Given the description of an element on the screen output the (x, y) to click on. 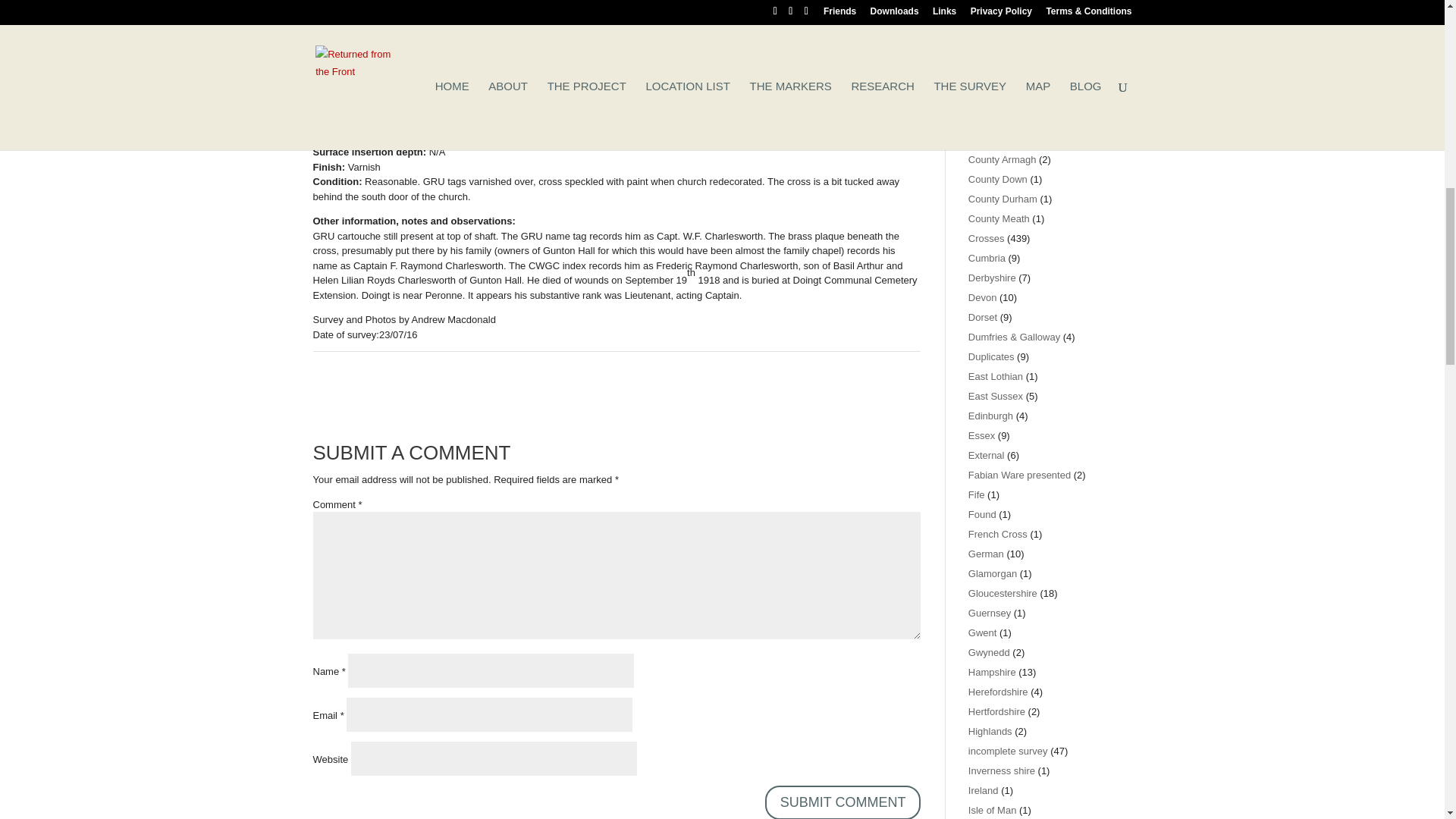
Submit Comment (843, 802)
Submit Comment (843, 802)
